Given the description of an element on the screen output the (x, y) to click on. 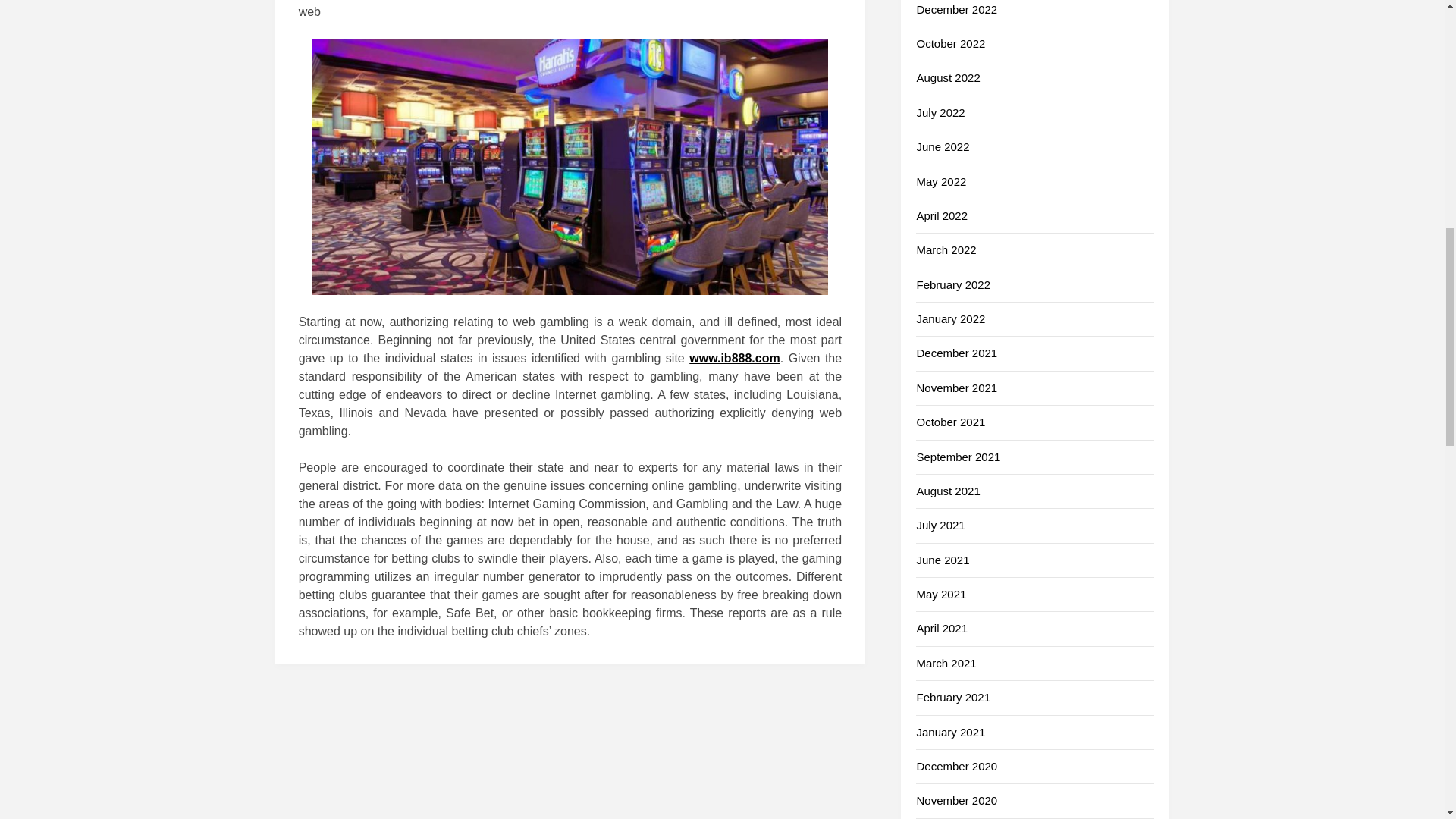
July 2021 (939, 524)
April 2021 (941, 627)
November 2021 (956, 387)
February 2021 (952, 697)
www.ib888.com (733, 358)
July 2022 (939, 112)
August 2022 (947, 77)
May 2022 (940, 181)
December 2021 (956, 352)
January 2021 (950, 731)
